Given the description of an element on the screen output the (x, y) to click on. 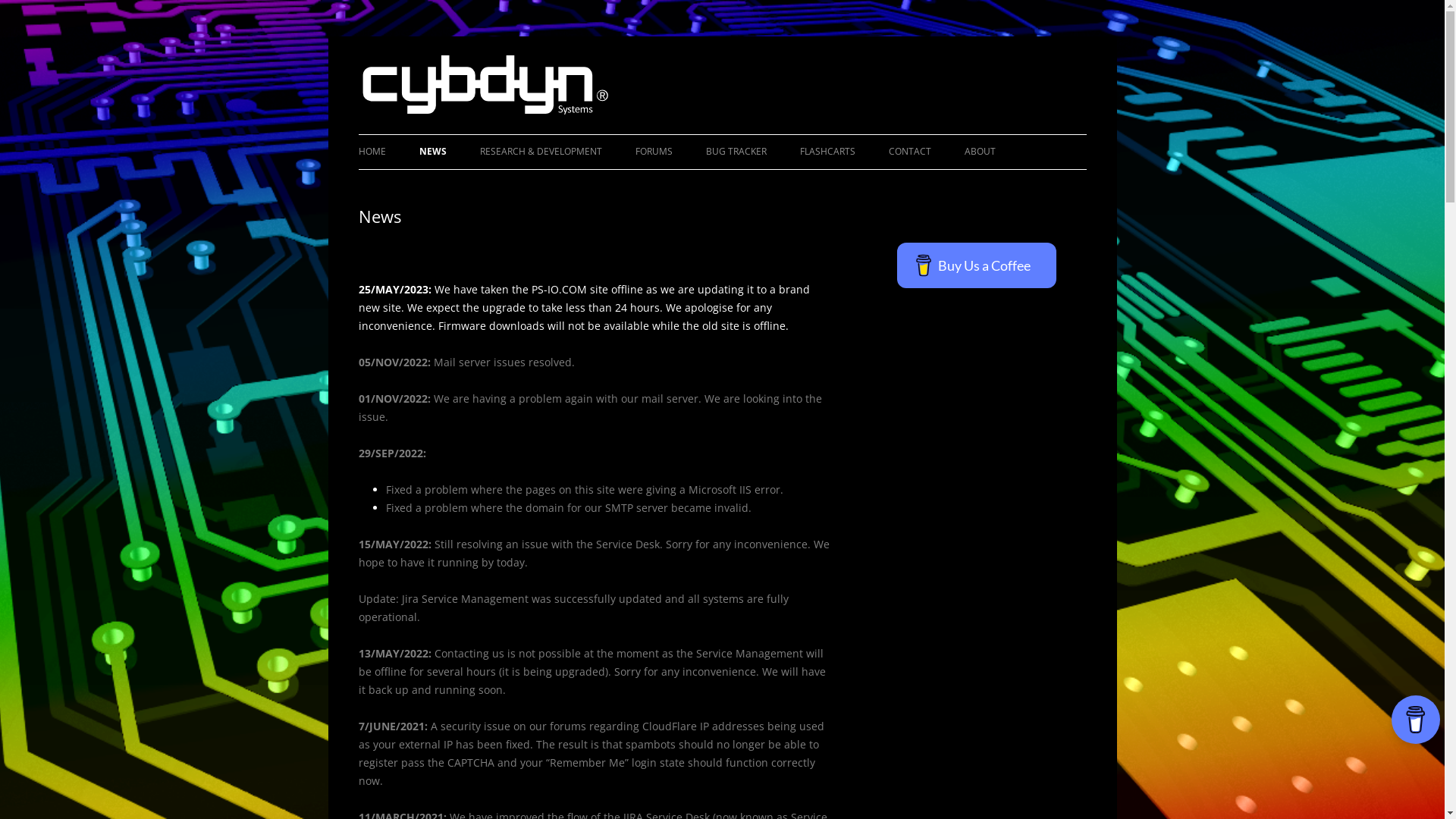
Buy Us a Coffee Element type: text (975, 265)
FLASHCARTS Element type: text (826, 151)
BUG TRACKER Element type: text (735, 151)
RESEARCH & DEVELOPMENT Element type: text (540, 151)
Skip to content Element type: text (721, 134)
NEWS Element type: text (431, 151)
PSIO Element type: text (874, 183)
JOBS Element type: text (1040, 183)
Cybdyn Systems Element type: text (437, 72)
Home | Cybdyn Systems Element type: hover (484, 110)
FORUMS Element type: text (653, 151)
HOME Element type: text (371, 151)
CONTACT Element type: text (909, 151)
ABOUT Element type: text (979, 151)
